Given the description of an element on the screen output the (x, y) to click on. 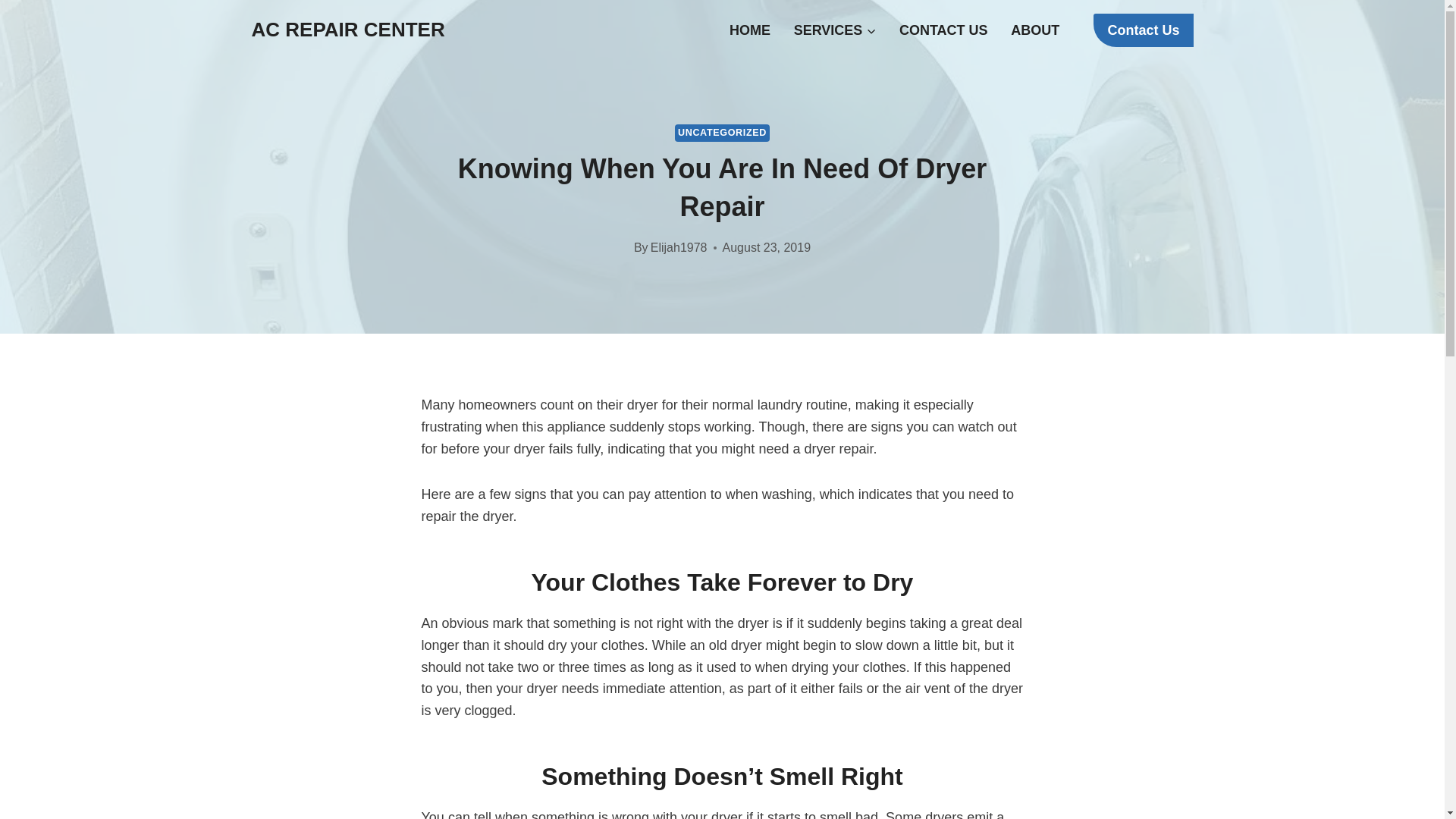
SERVICES (833, 30)
HOME (750, 30)
AC REPAIR CENTER (348, 29)
